Given the description of an element on the screen output the (x, y) to click on. 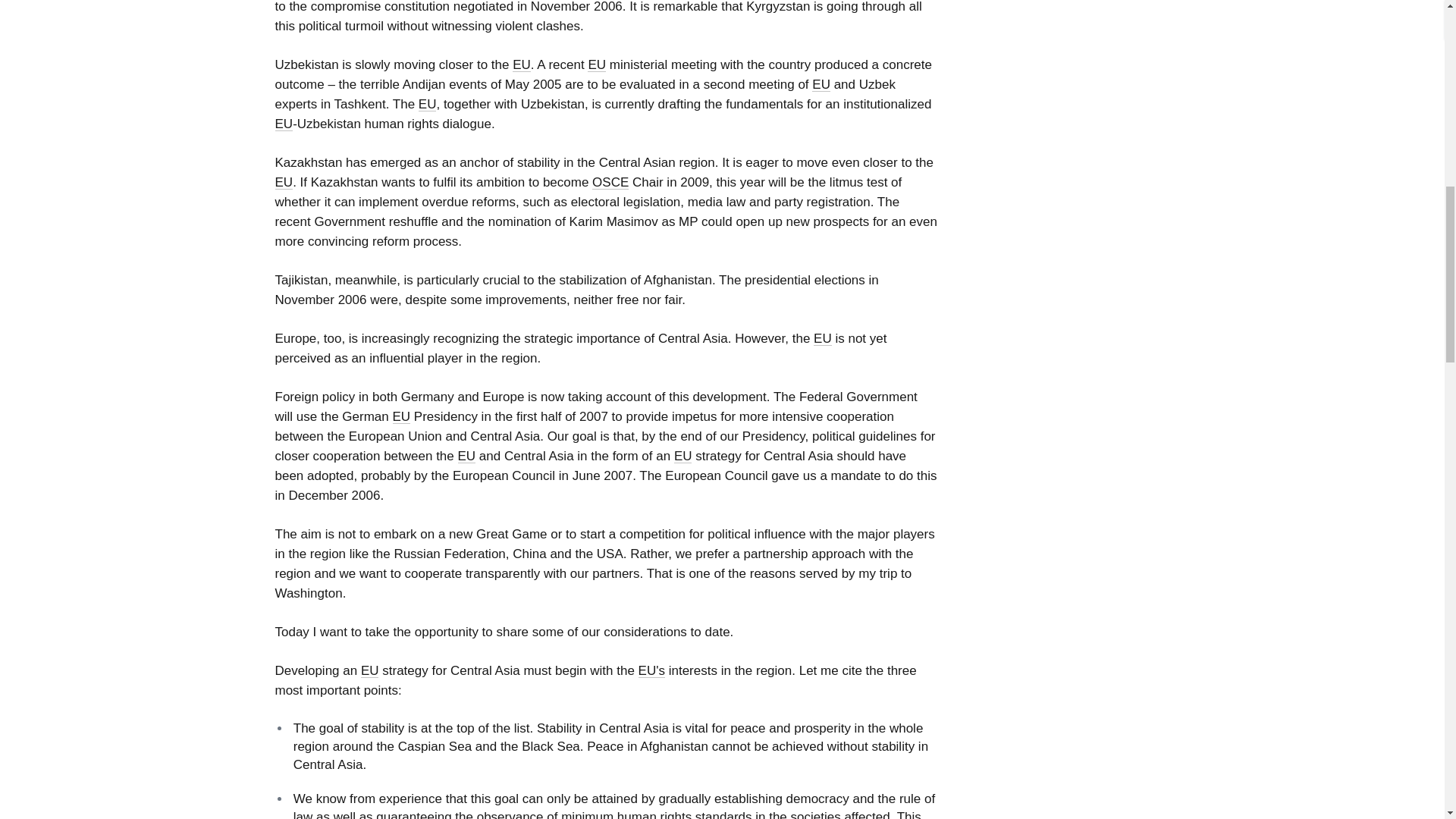
European Union (283, 124)
European Union (820, 83)
European Union (427, 104)
European Union (521, 64)
European Union (596, 64)
